Given the description of an element on the screen output the (x, y) to click on. 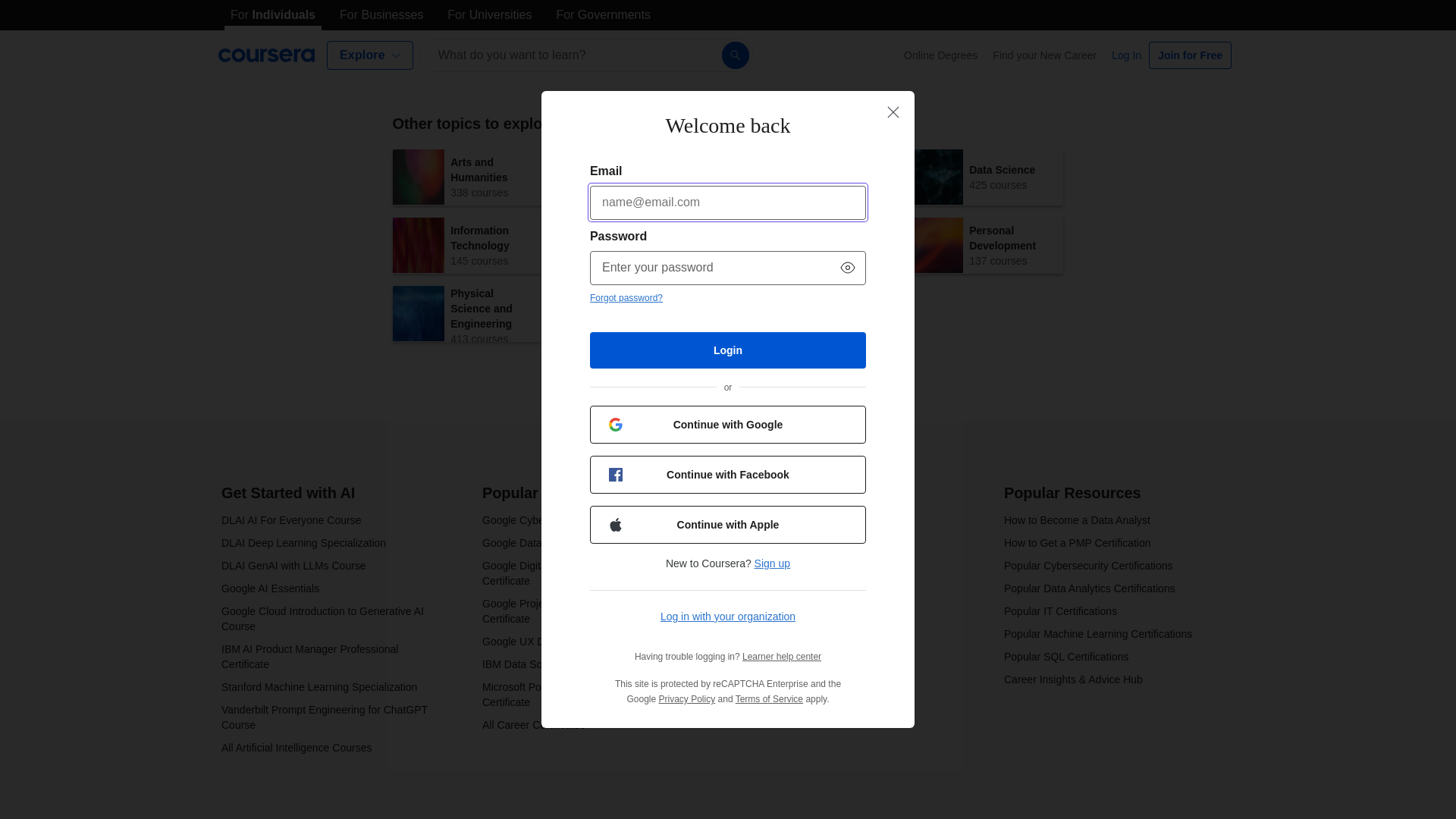
Greek and Roman Mythology (455, 27)
